Given the description of an element on the screen output the (x, y) to click on. 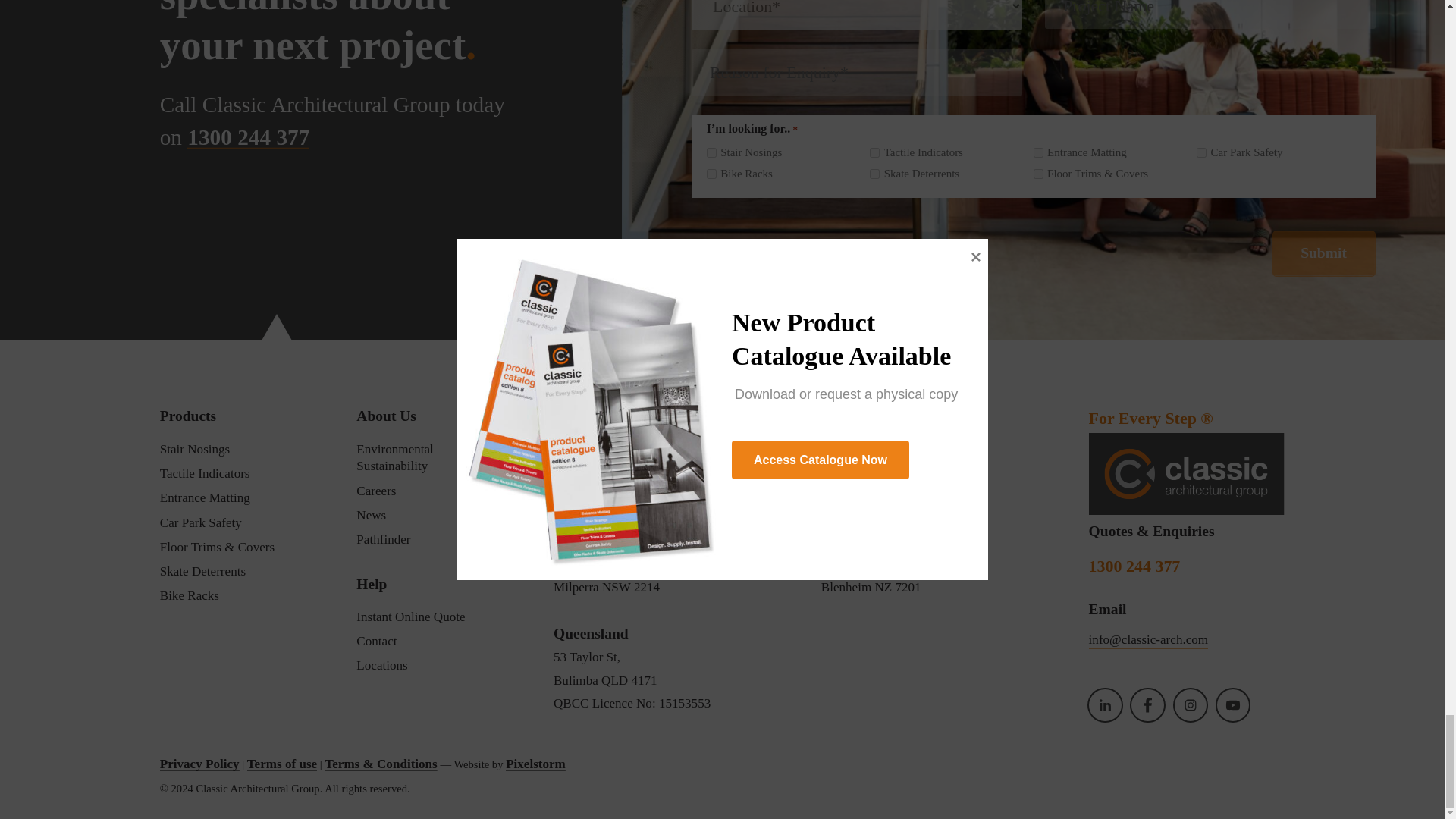
Tactile Indicators (874, 153)
Skate Deterrents (874, 173)
Car Park Safety (1201, 153)
Stair Nosings (711, 153)
Bike Racks (711, 173)
Entrance Matting (1038, 153)
Submit (1323, 253)
